Given the description of an element on the screen output the (x, y) to click on. 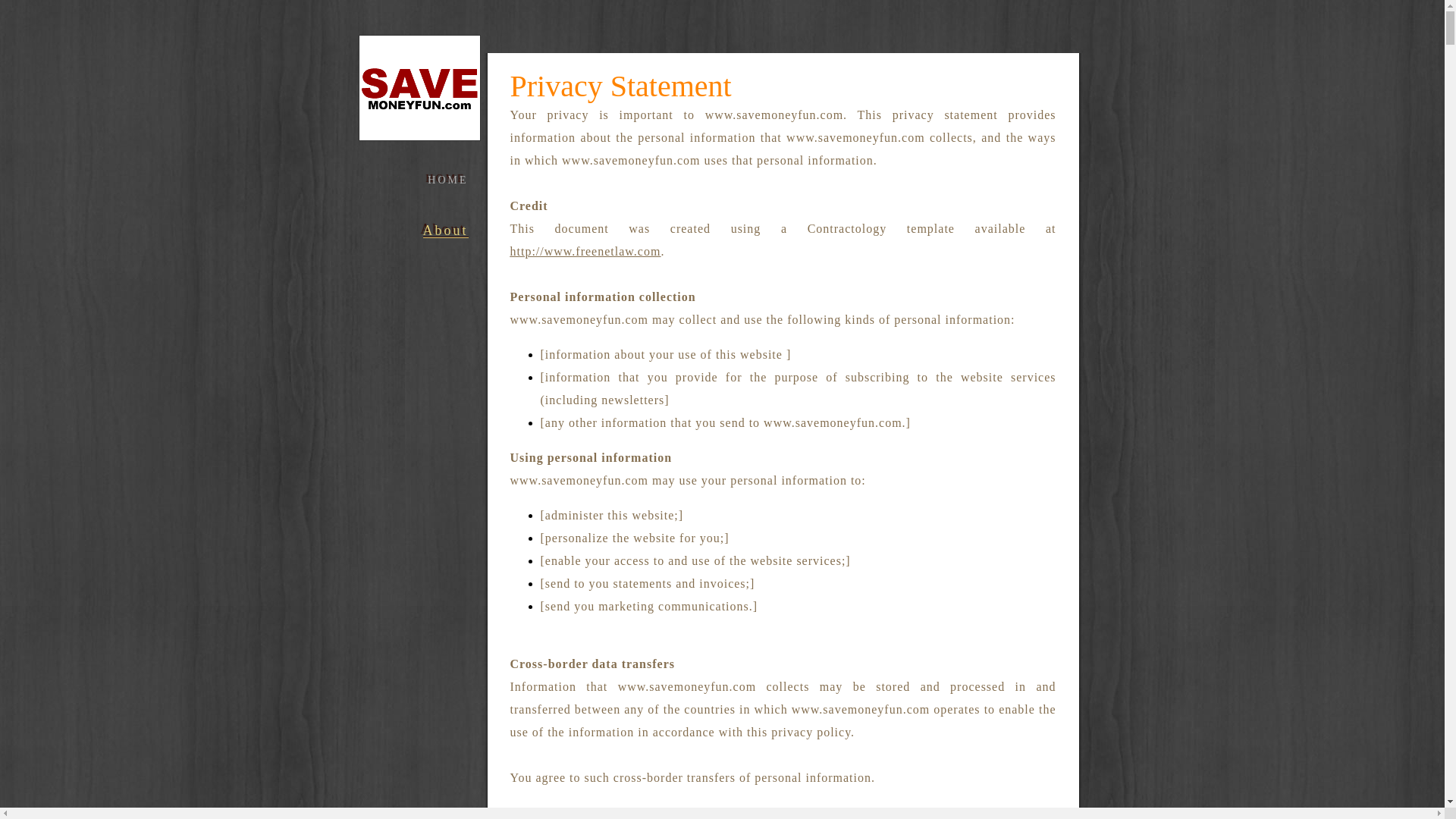
HOME (447, 179)
About (445, 230)
